Given the description of an element on the screen output the (x, y) to click on. 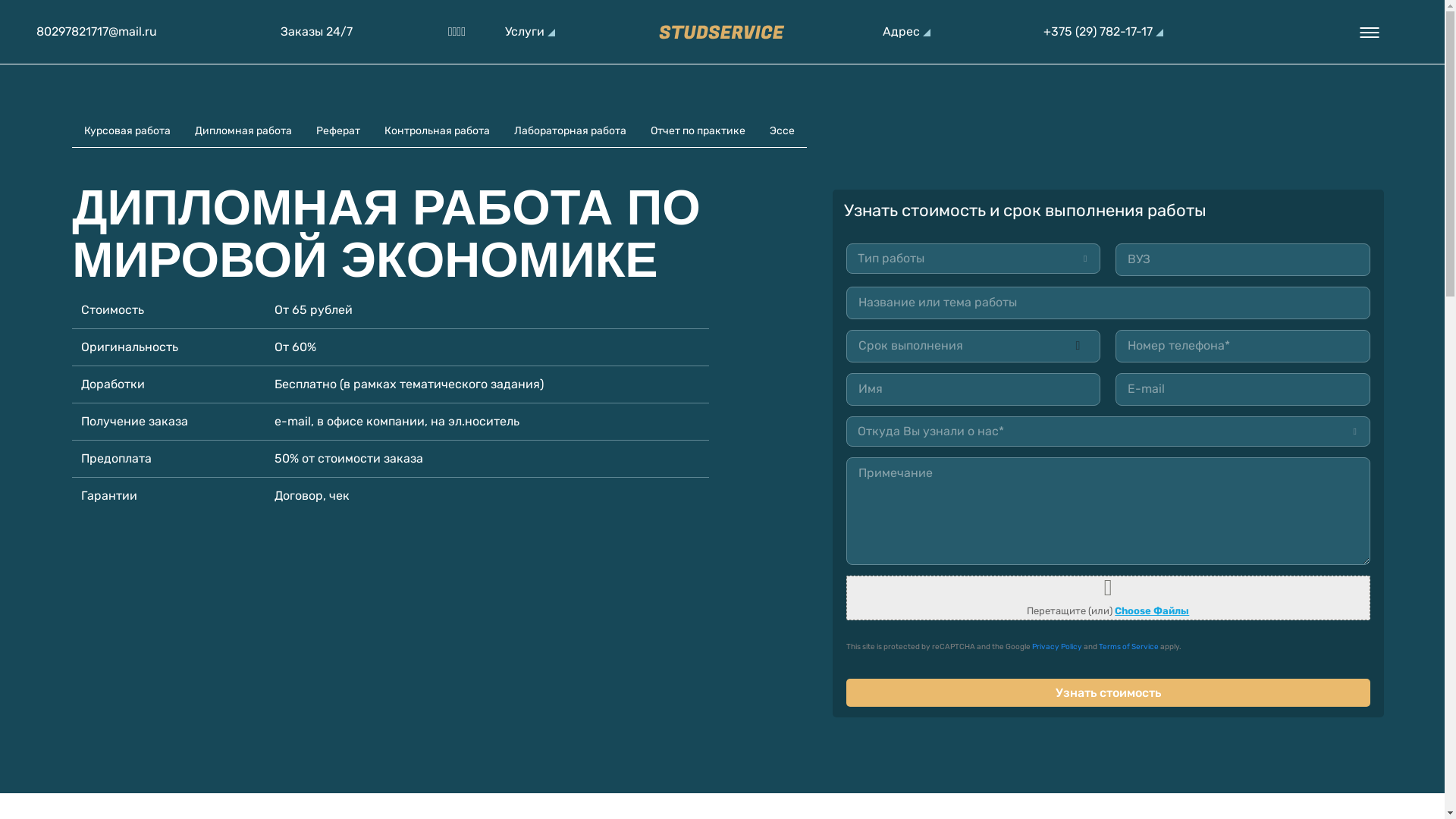
Menu Element type: text (1369, 32)
Privacy Policy Element type: text (1057, 646)
STUDSERVICE Element type: text (642, 64)
+375 (29) 782-17-17 Element type: text (1103, 31)
80297821717@mail.ru Element type: text (96, 31)
Terms of Service Element type: text (1128, 646)
